Given the description of an element on the screen output the (x, y) to click on. 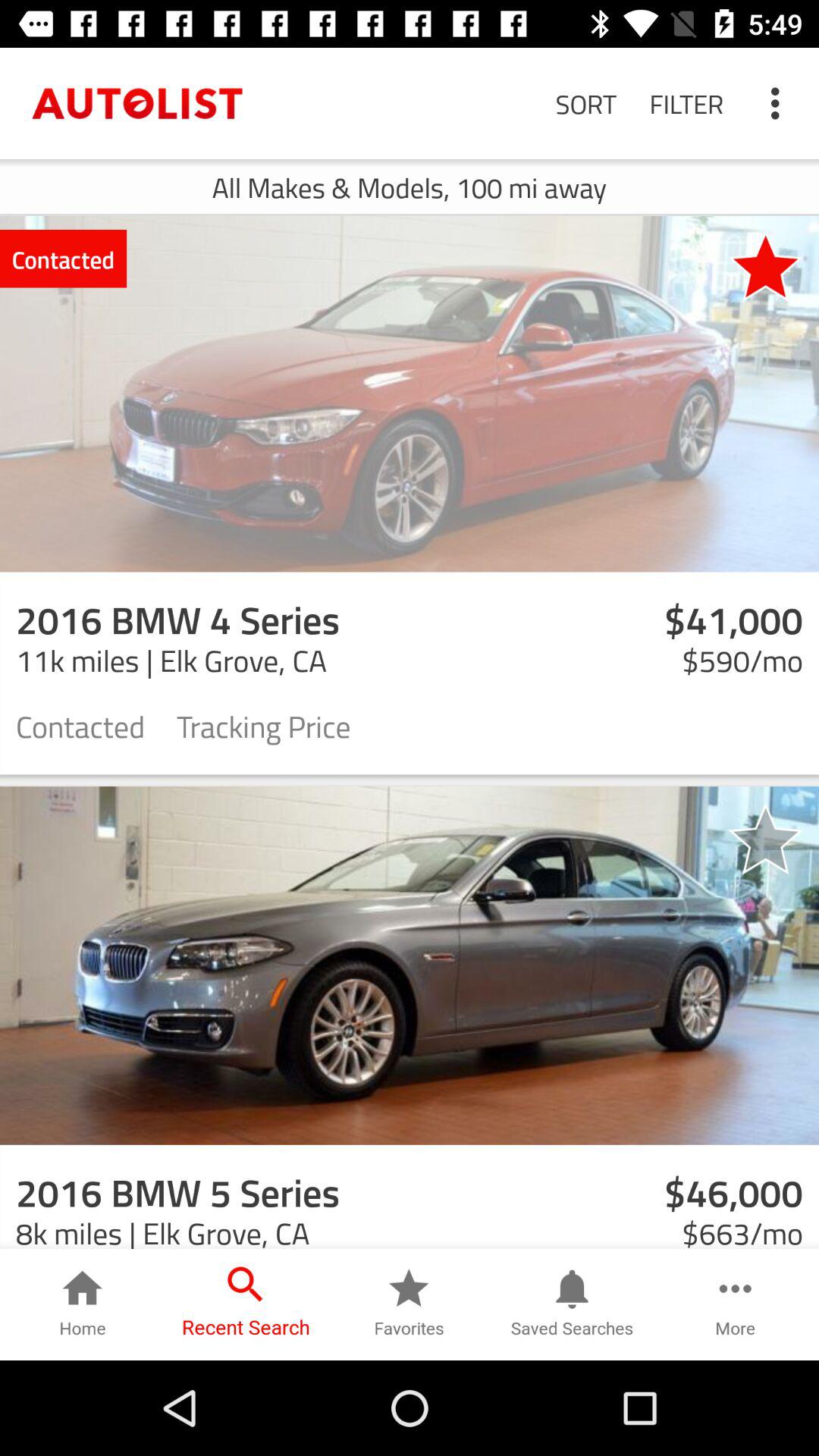
choose the sort (585, 103)
